Given the description of an element on the screen output the (x, y) to click on. 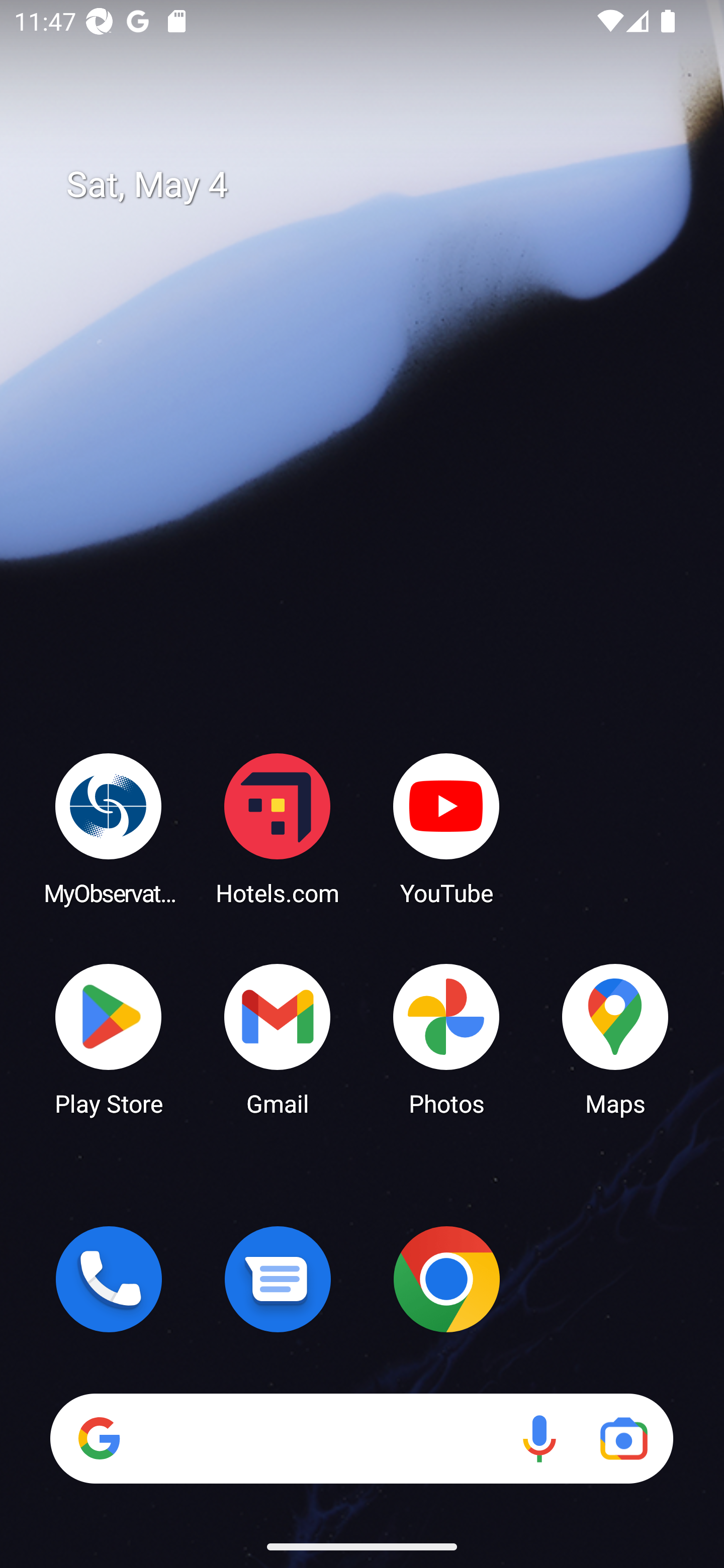
Sat, May 4 (375, 184)
MyObservatory (108, 828)
Hotels.com (277, 828)
YouTube (445, 828)
Play Store (108, 1038)
Gmail (277, 1038)
Photos (445, 1038)
Maps (615, 1038)
Phone (108, 1279)
Messages (277, 1279)
Chrome (446, 1279)
Search Voice search Google Lens (361, 1438)
Voice search (539, 1438)
Google Lens (623, 1438)
